Given the description of an element on the screen output the (x, y) to click on. 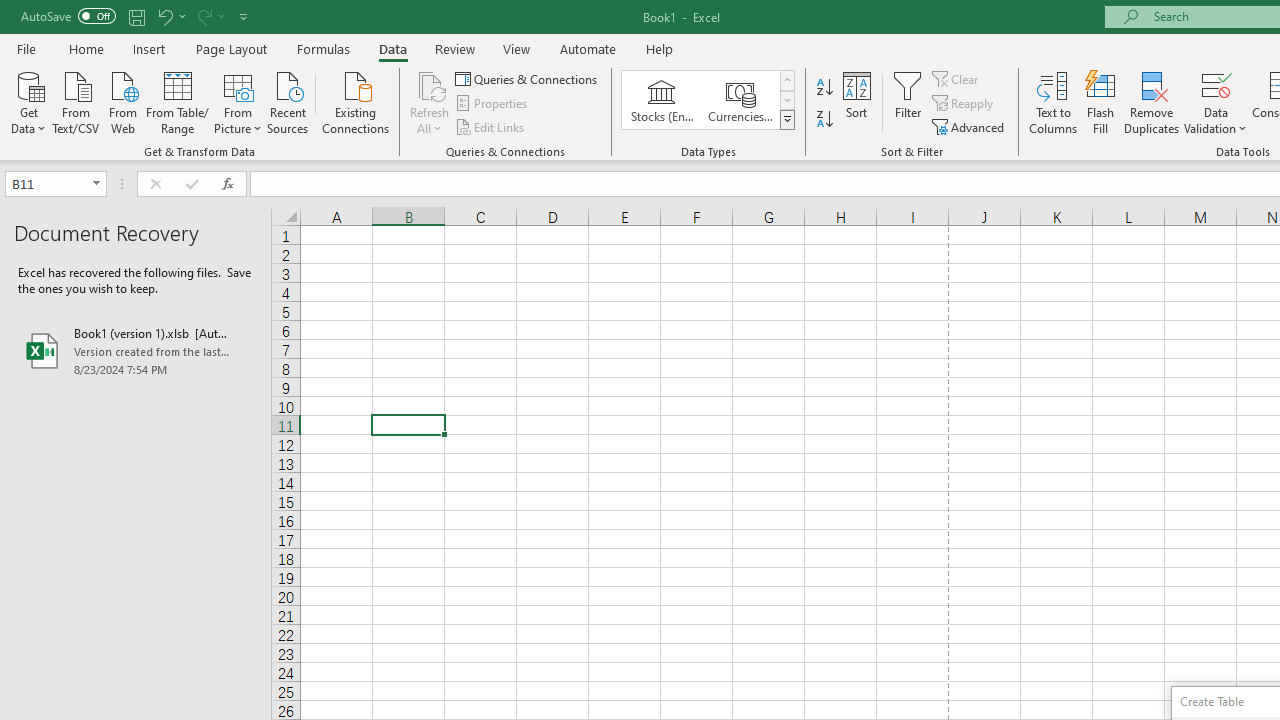
Sort A to Z (824, 87)
System (10, 11)
From Web (122, 101)
File Tab (26, 48)
Data Validation... (1215, 102)
Refresh All (429, 84)
Open (96, 183)
From Text/CSV (75, 101)
AutoSave (68, 16)
Edit Links (491, 126)
From Picture (238, 101)
Page Layout (230, 48)
